Given the description of an element on the screen output the (x, y) to click on. 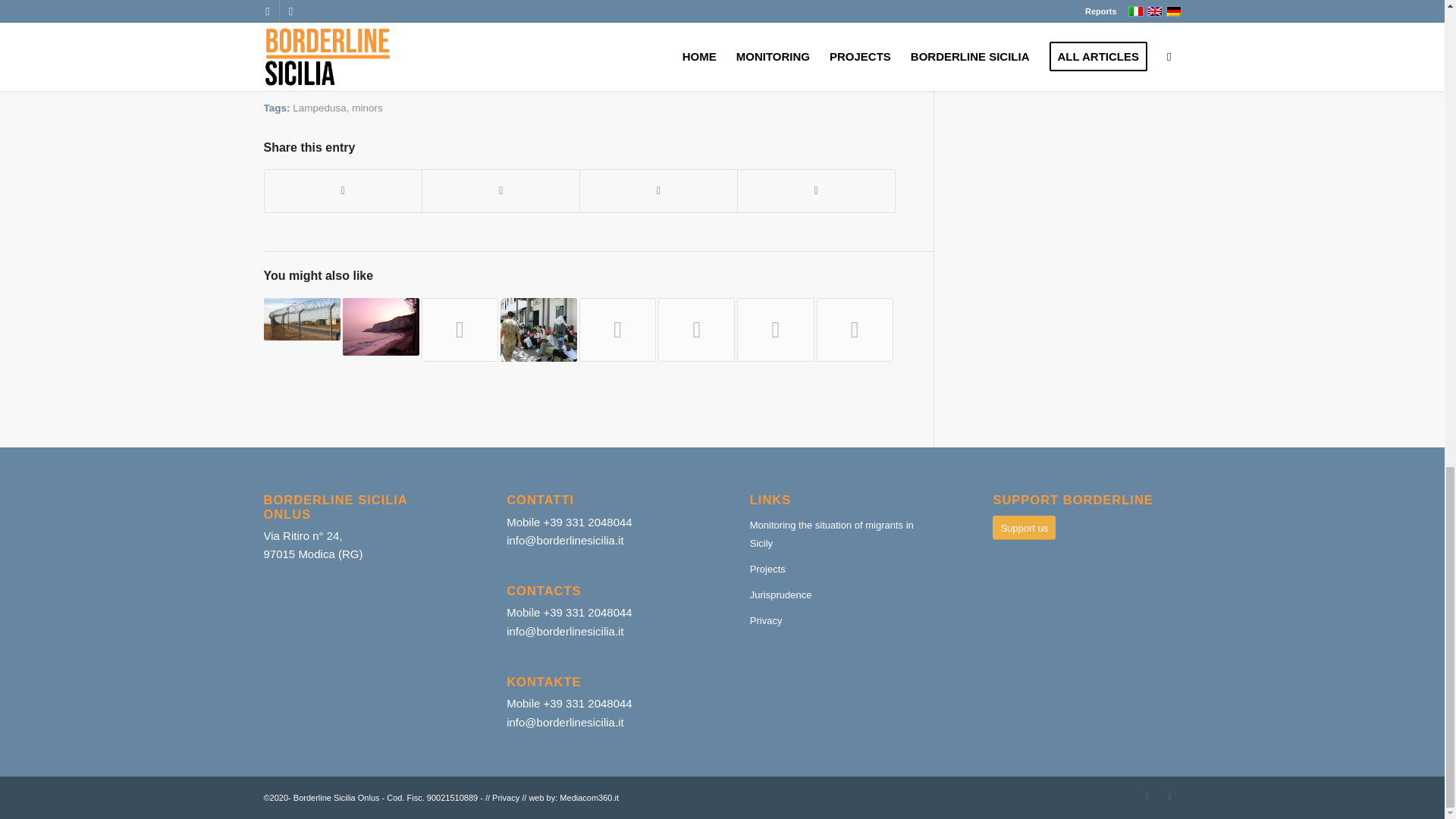
Lampedusa (319, 107)
minors (367, 107)
